Given the description of an element on the screen output the (x, y) to click on. 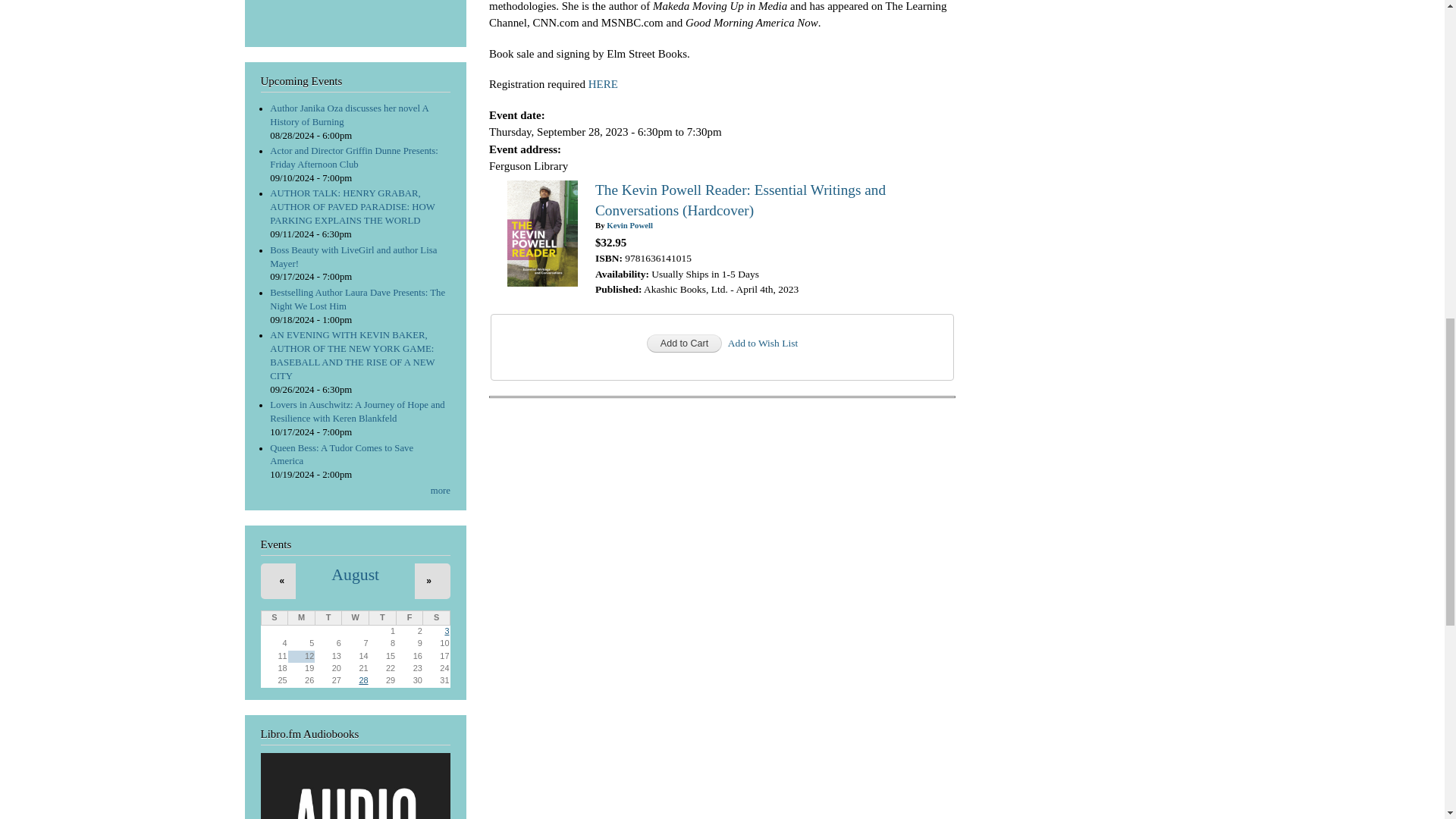
View full page month (354, 574)
Add to Wish List (762, 342)
Kevin Powell (629, 225)
Navigate to next month (428, 581)
August (354, 574)
Add to Cart (684, 343)
more (439, 490)
